Given the description of an element on the screen output the (x, y) to click on. 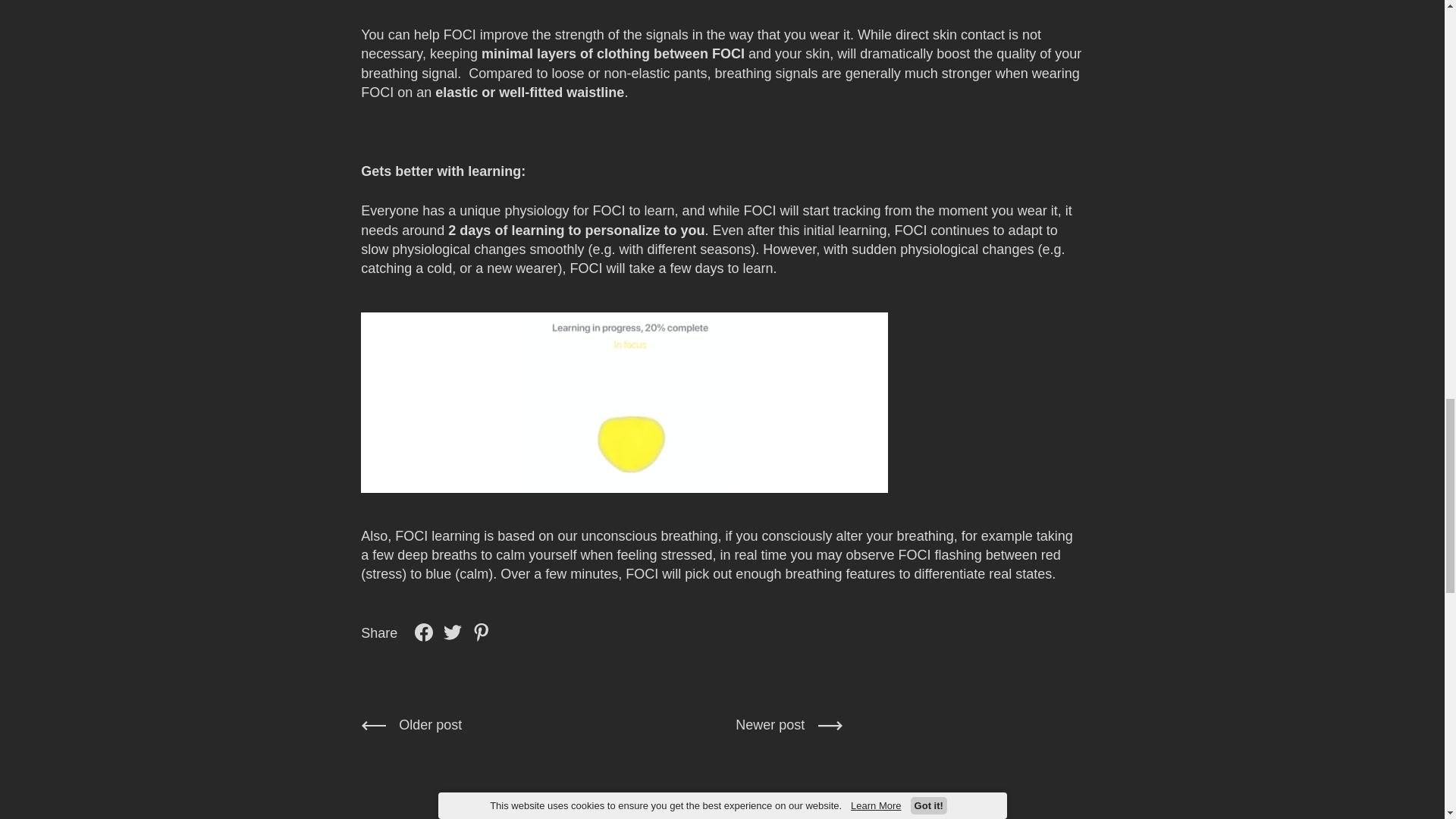
Older post (392, 725)
Older post (392, 725)
Newer post (789, 725)
Newer post (789, 725)
